Given the description of an element on the screen output the (x, y) to click on. 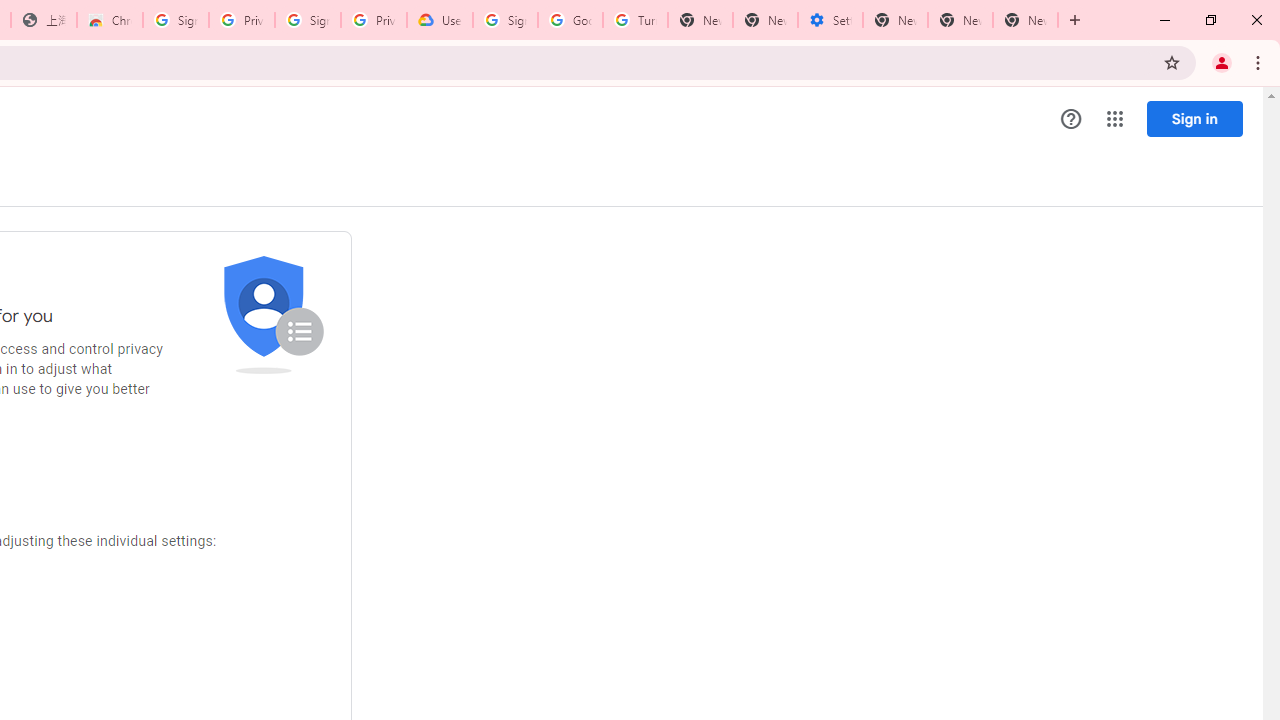
Google Account Help (569, 20)
Sign in - Google Accounts (175, 20)
Sign in - Google Accounts (307, 20)
New Tab (700, 20)
Chrome Web Store - Color themes by Chrome (109, 20)
